Given the description of an element on the screen output the (x, y) to click on. 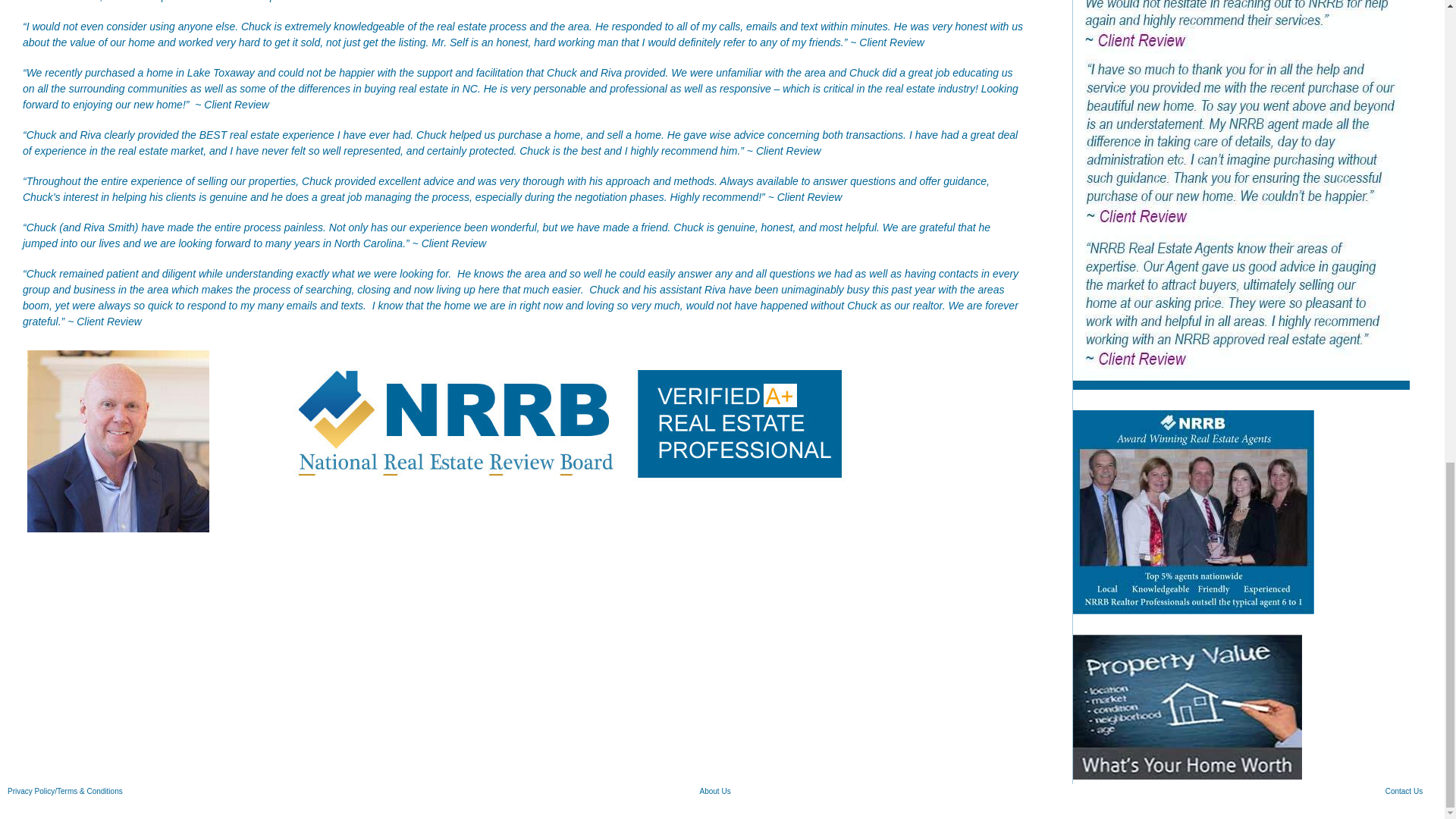
About Us (714, 791)
Contact Us (1404, 791)
Top Realtors (1193, 512)
